Given the description of an element on the screen output the (x, y) to click on. 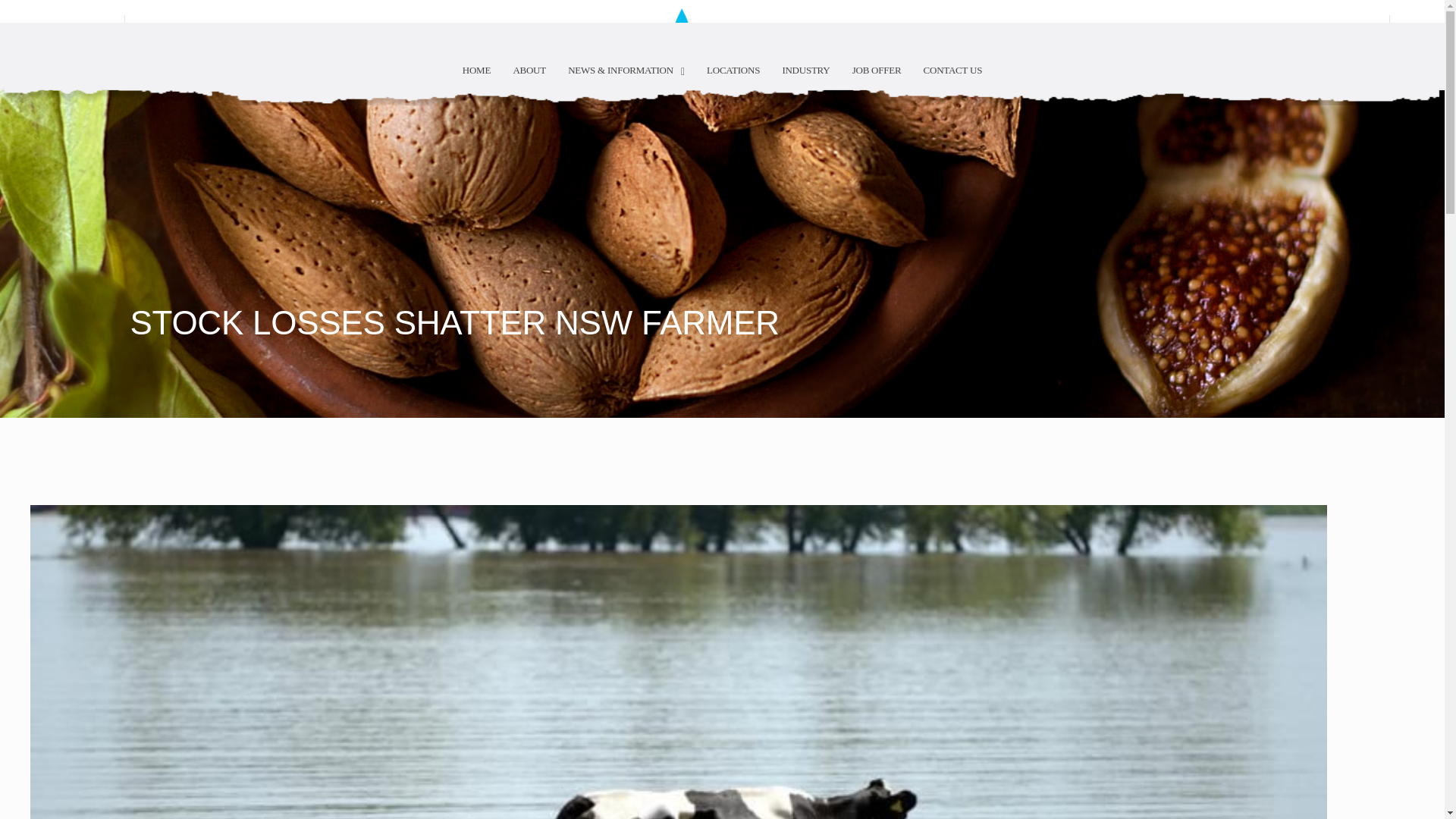
HOME (476, 70)
ABOUT (529, 70)
INDUSTRY (805, 70)
LOCATIONS (733, 70)
CONTACT US (952, 70)
JOB OFFER (876, 70)
